Given the description of an element on the screen output the (x, y) to click on. 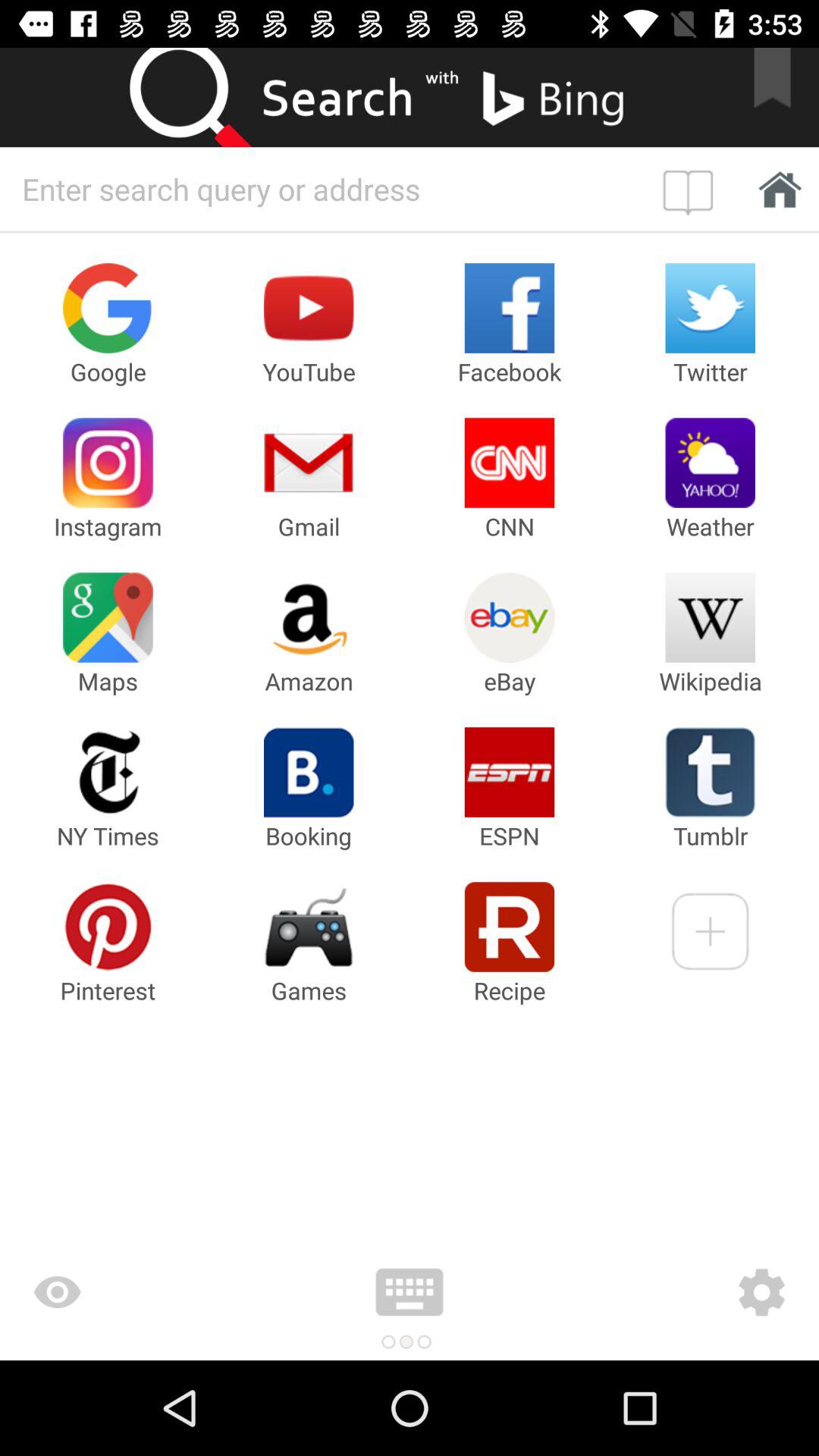
turn on the item below the recipe icon (671, 1292)
